Given the description of an element on the screen output the (x, y) to click on. 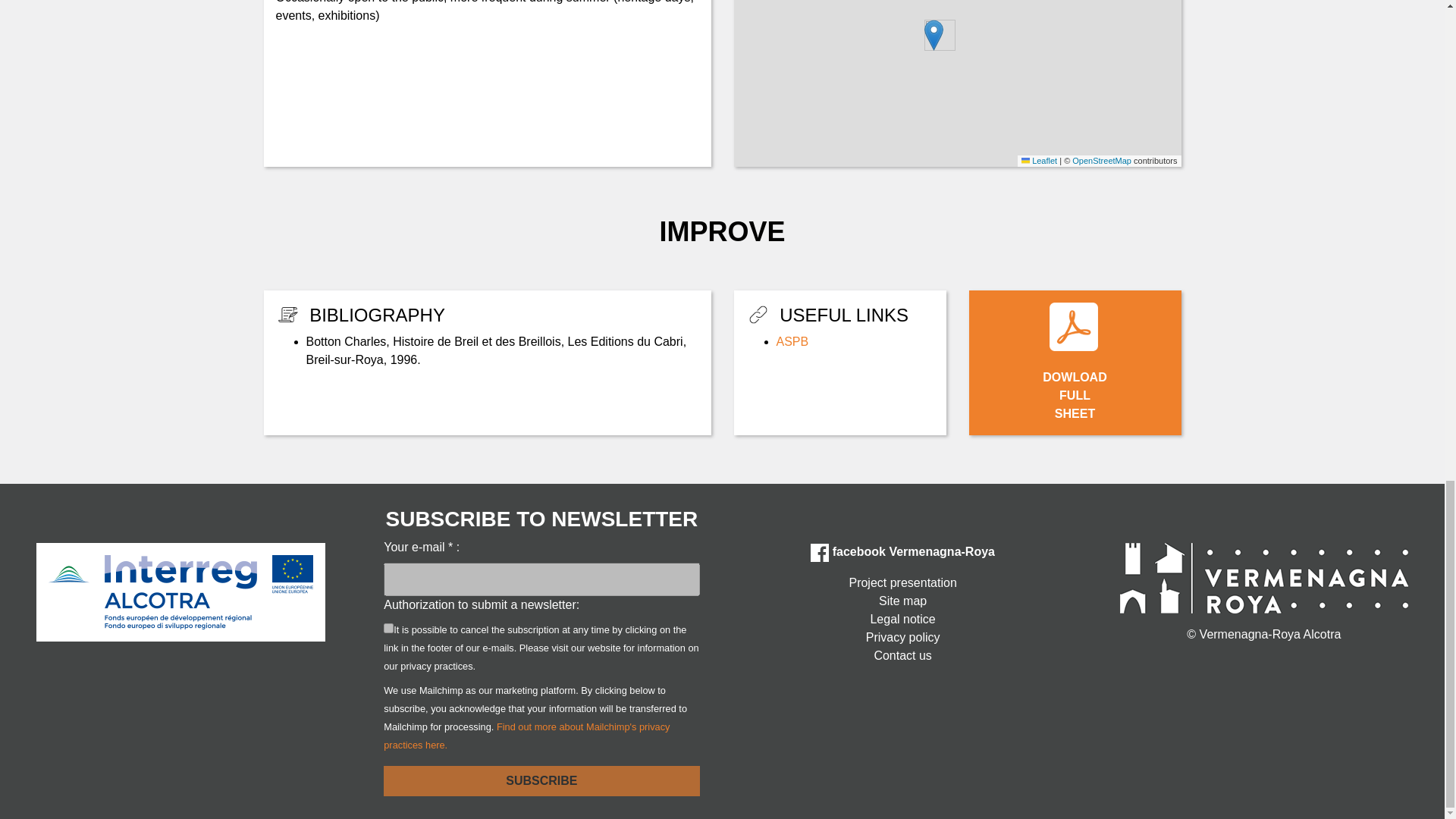
Legal notice (902, 619)
OpenStreetMap (1101, 160)
Project presentation (902, 583)
A JavaScript library for interactive maps (1039, 160)
Site map (902, 601)
Contact us (1074, 362)
Subscribe (902, 656)
Privacy policy (541, 780)
Subscribe (902, 637)
